Given the description of an element on the screen output the (x, y) to click on. 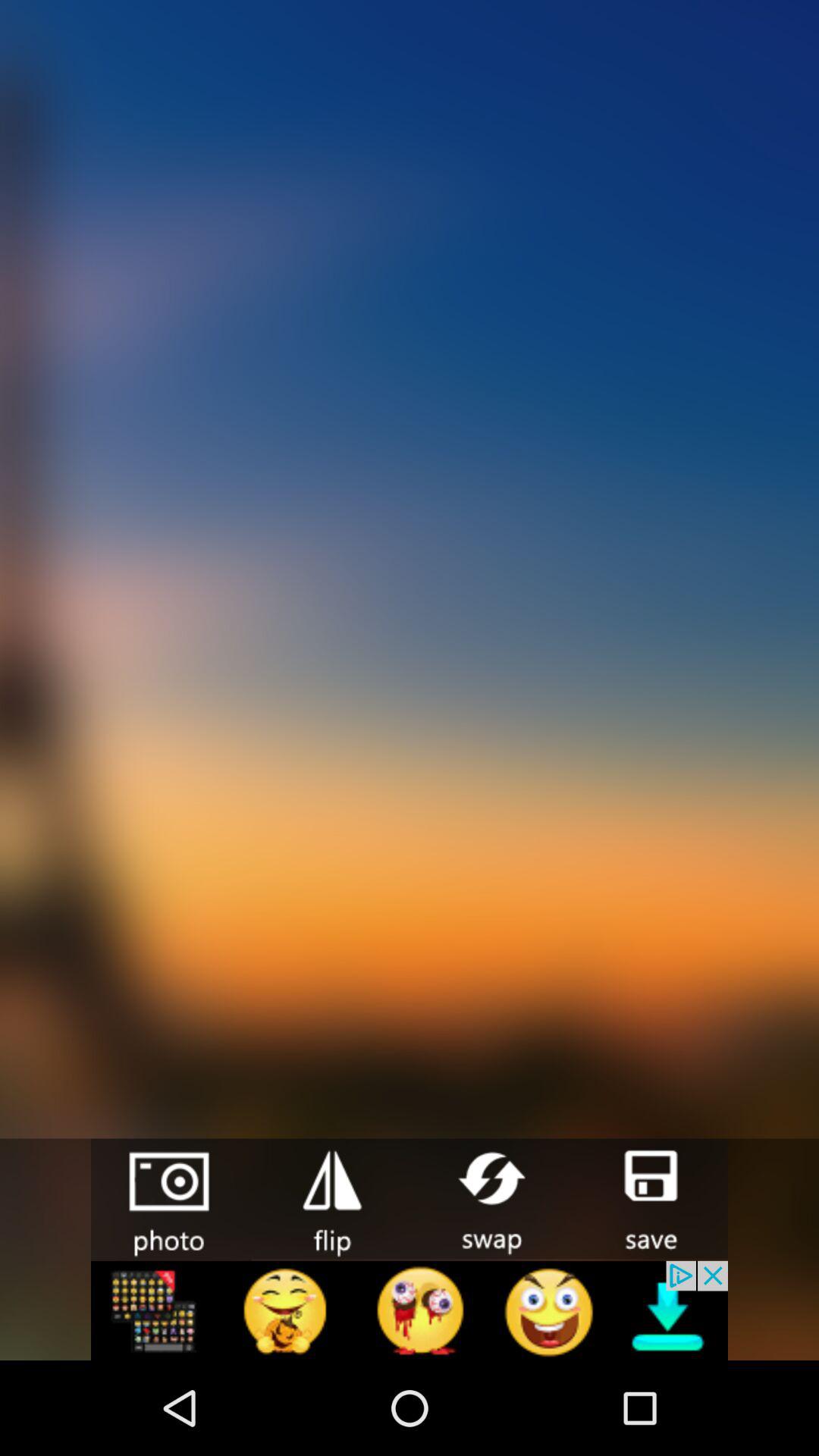
save button (648, 1198)
